Given the description of an element on the screen output the (x, y) to click on. 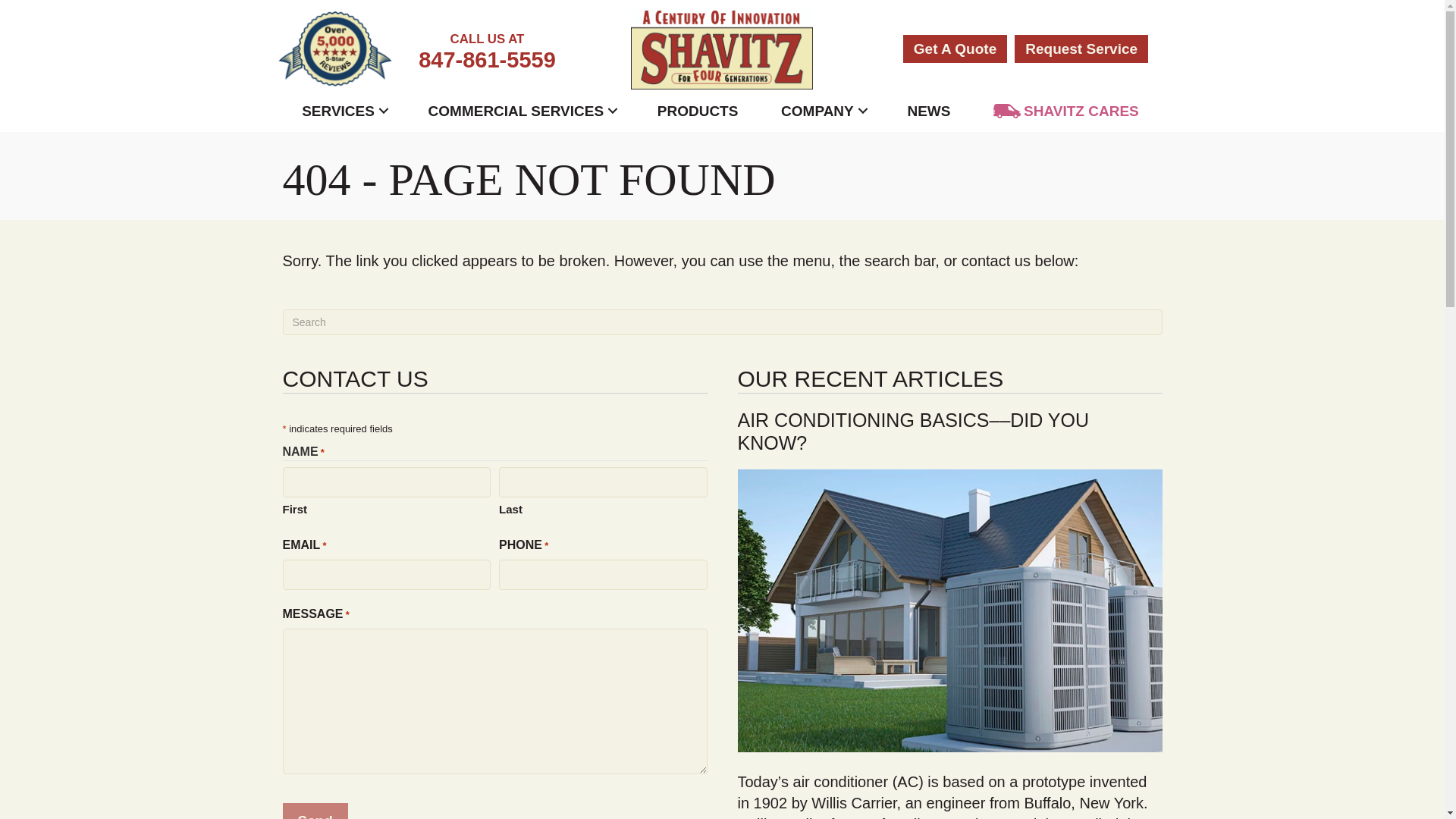
Get A Quote (954, 49)
Request Service (1081, 49)
PRODUCTS (697, 110)
Send (314, 811)
COMMERCIAL SERVICES (521, 110)
SERVICES (343, 110)
Type and press Enter to search. (721, 321)
COMPANY (487, 47)
